Given the description of an element on the screen output the (x, y) to click on. 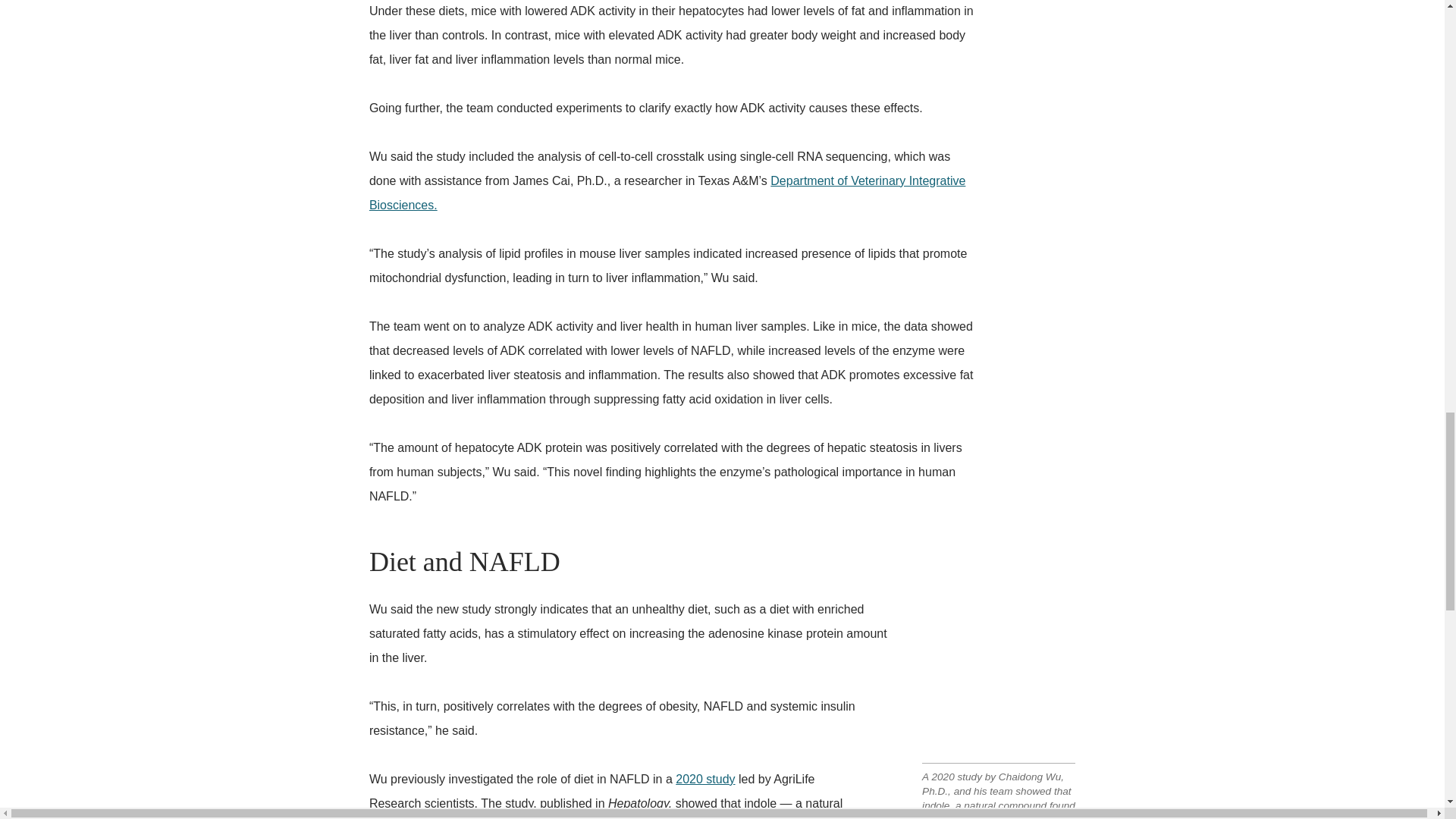
2020 study (705, 779)
Department of Veterinary Integrative Biosciences. (667, 192)
